Given the description of an element on the screen output the (x, y) to click on. 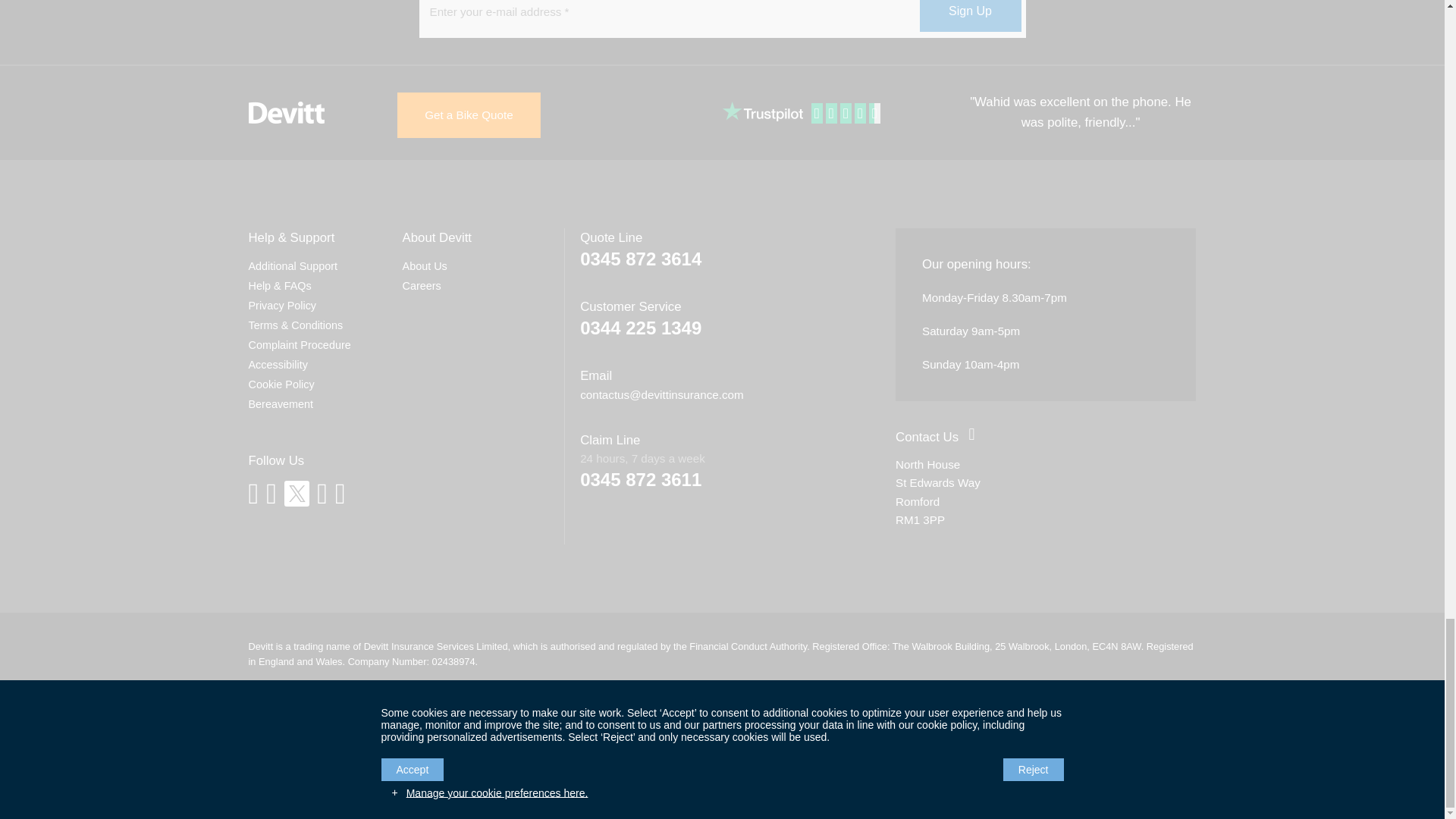
Return to Devitt Insurance homepage (286, 112)
Get in-touch with the Devitt team (926, 436)
Sign Up (969, 15)
Rated 4.5 stars out of 5 (846, 114)
Follow us on Twitter (295, 493)
